Given the description of an element on the screen output the (x, y) to click on. 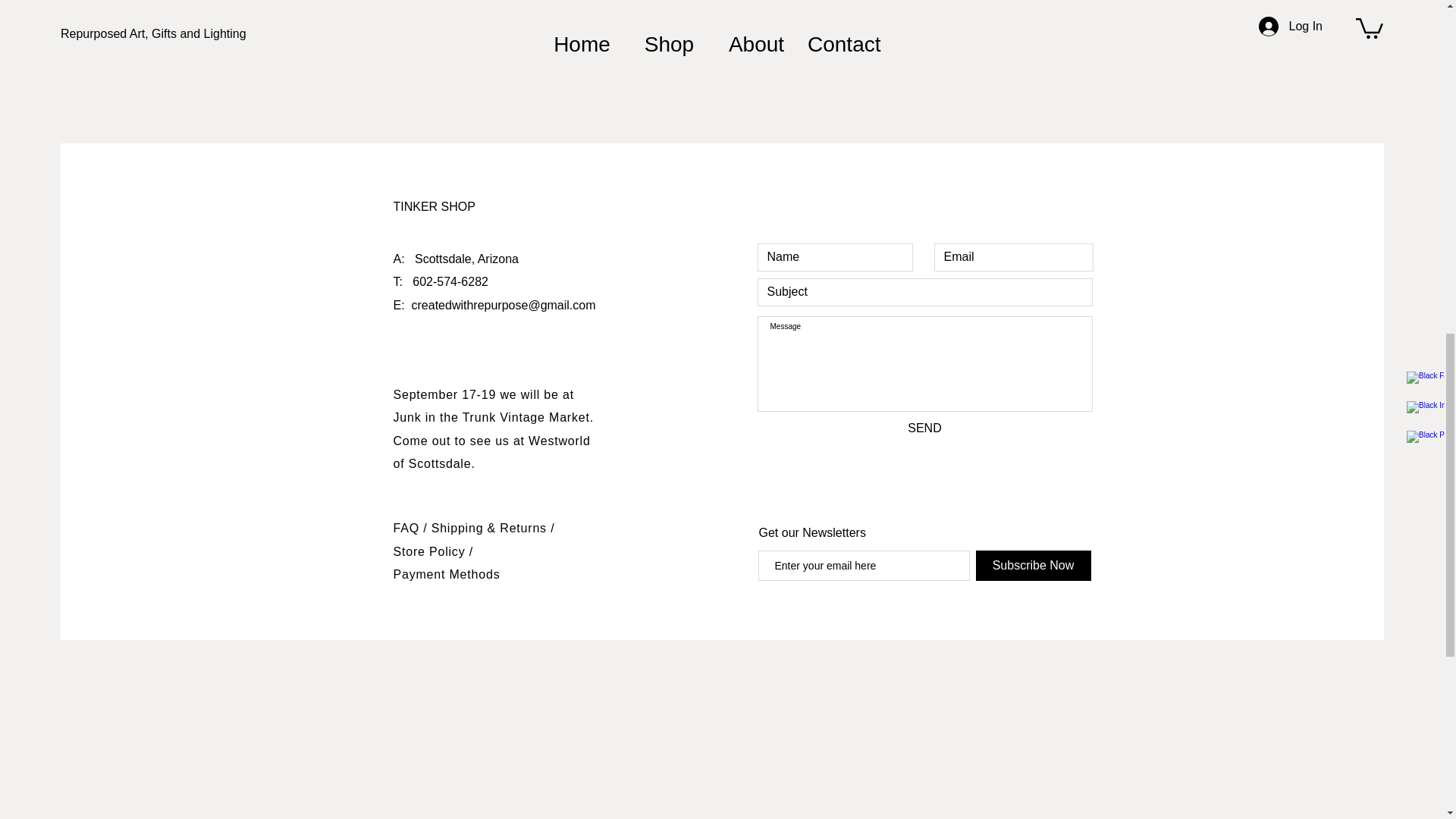
Payment Methods (446, 574)
SEND (924, 427)
Subscribe Now (1032, 565)
Store Policy  (430, 551)
